Given the description of an element on the screen output the (x, y) to click on. 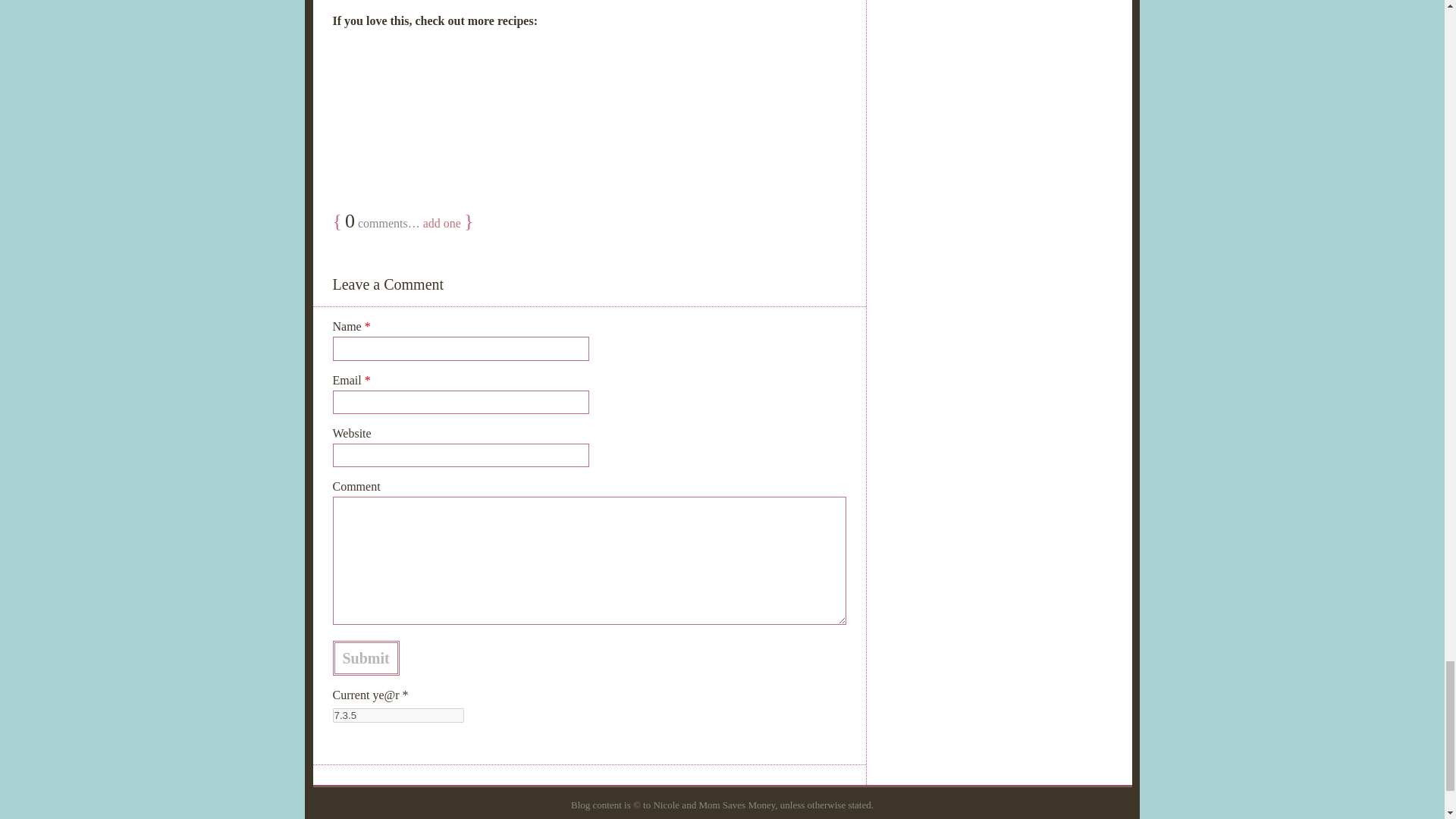
add one (442, 223)
7.3.5 (397, 715)
Submit (364, 657)
Submit (364, 657)
